Given the description of an element on the screen output the (x, y) to click on. 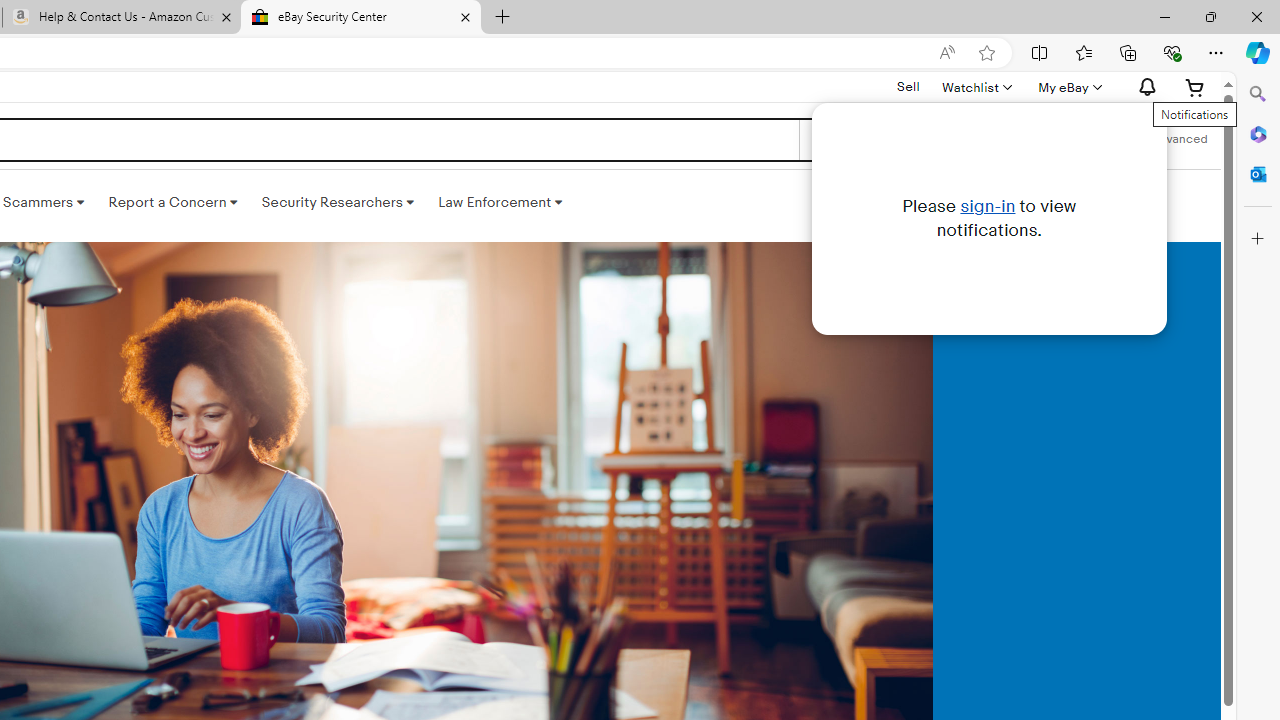
Law Enforcement  (500, 202)
eBay Security Center (360, 17)
Close Outlook pane (1258, 174)
Advanced Search (1179, 139)
Law Enforcement  (500, 202)
